Given the description of an element on the screen output the (x, y) to click on. 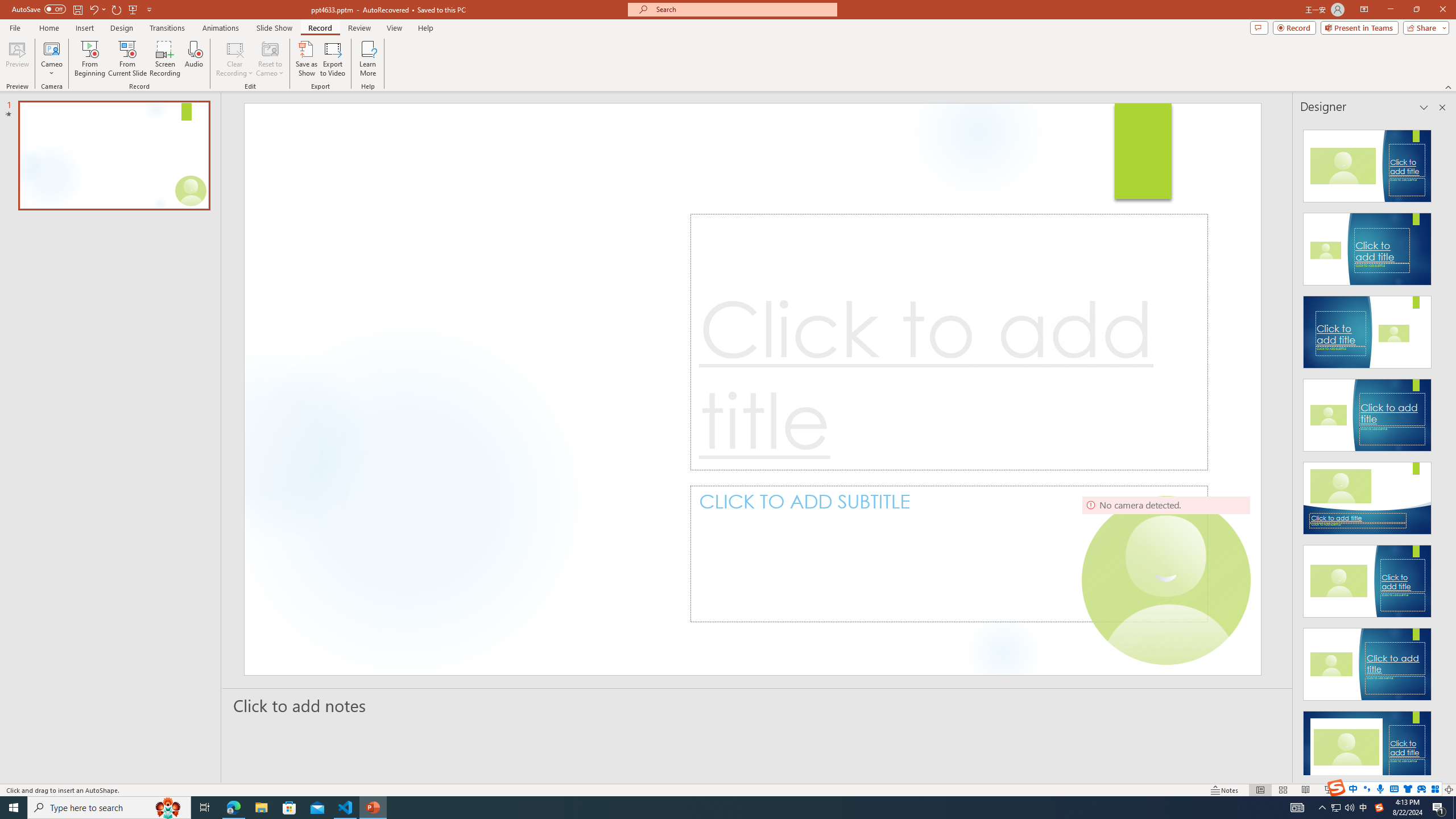
Zoom 140% (1430, 790)
Export to Video (332, 58)
Learn More (368, 58)
